Given the description of an element on the screen output the (x, y) to click on. 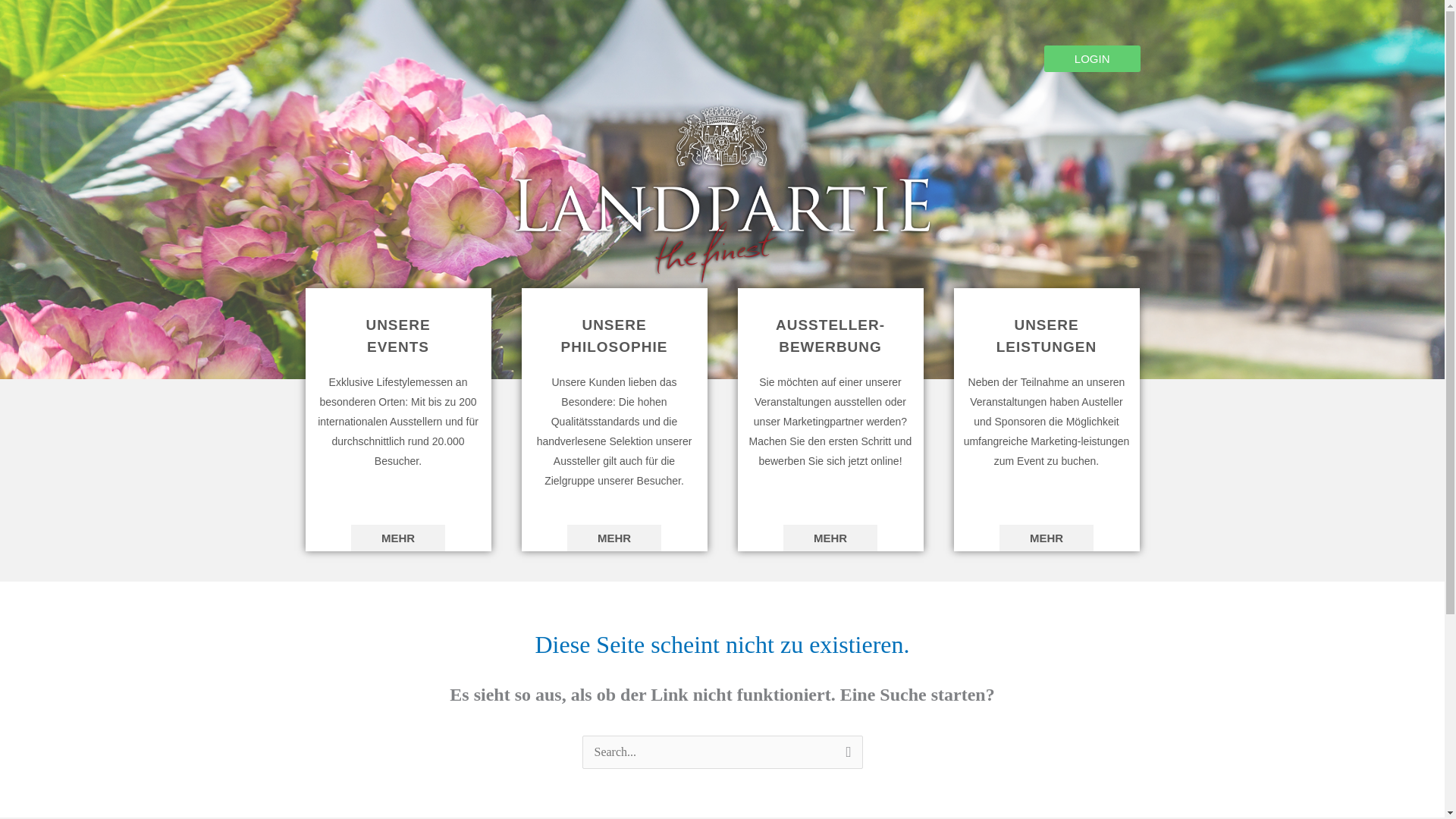
MEHR (397, 537)
LOGIN (1091, 58)
Suche (844, 756)
MEHR (830, 537)
Suche (844, 756)
Suche (844, 756)
MEHR (1045, 537)
MEHR (614, 537)
